Given the description of an element on the screen output the (x, y) to click on. 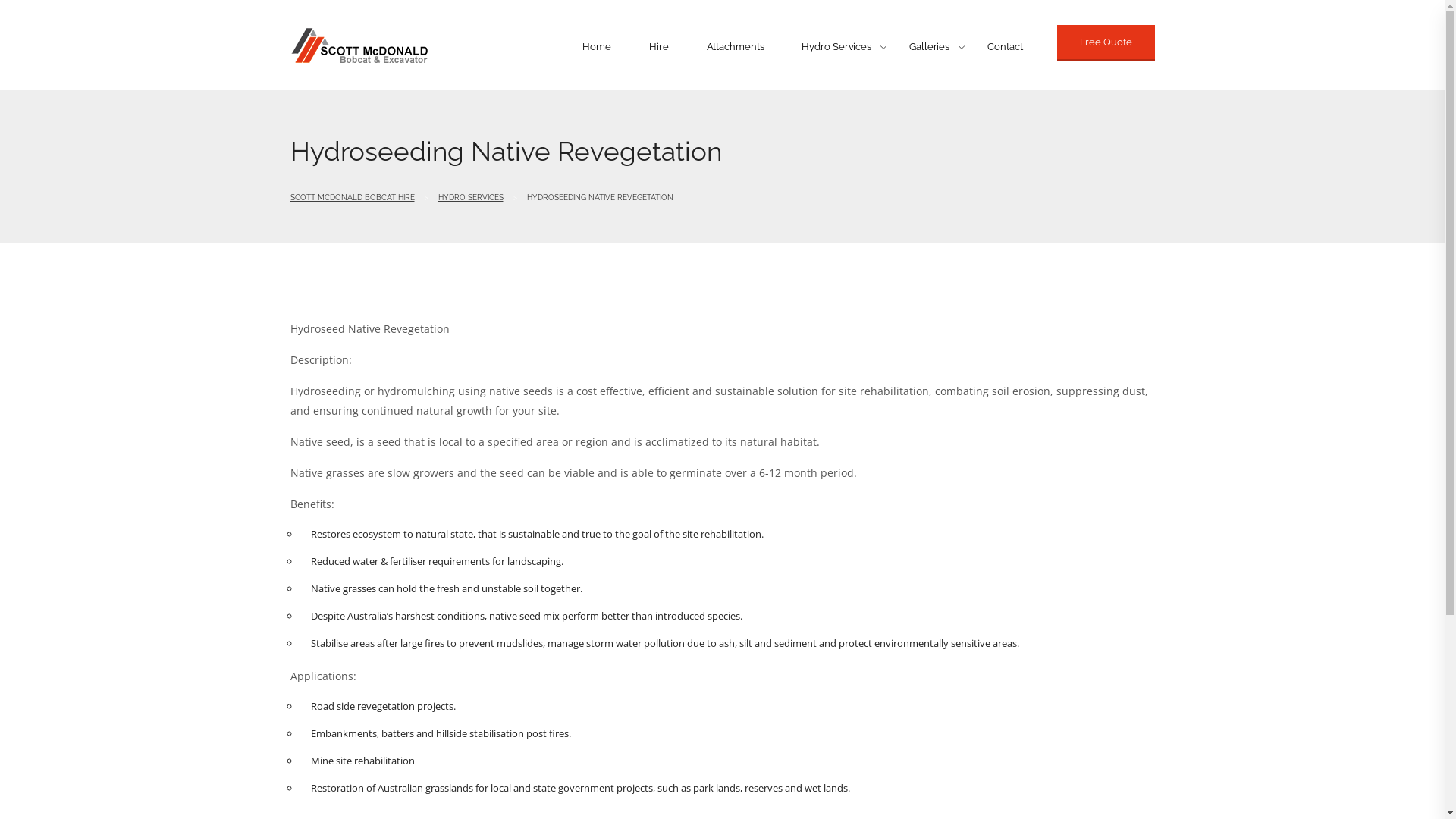
HYDRO SERVICES Element type: text (470, 197)
SCOTT MCDONALD BOBCAT HIRE Element type: text (351, 197)
Galleries Element type: text (929, 46)
Home Element type: text (596, 46)
Contact Element type: text (1004, 46)
Attachments Element type: text (735, 46)
Hire Element type: text (658, 46)
Hydro Services Element type: text (836, 46)
